Given the description of an element on the screen output the (x, y) to click on. 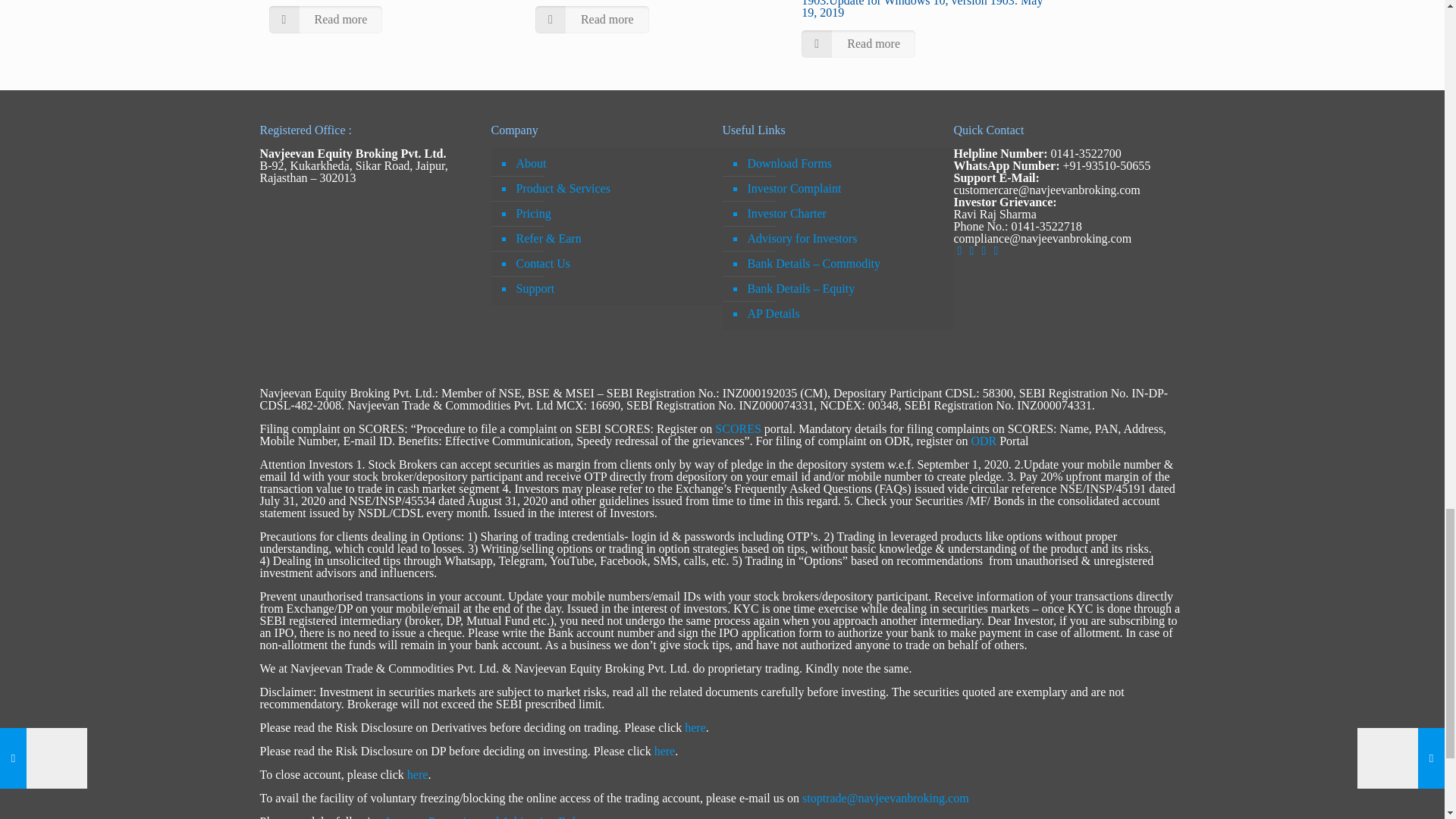
Instagram (984, 250)
Linkedin (972, 250)
Facebook (959, 250)
Read more (324, 19)
